Given the description of an element on the screen output the (x, y) to click on. 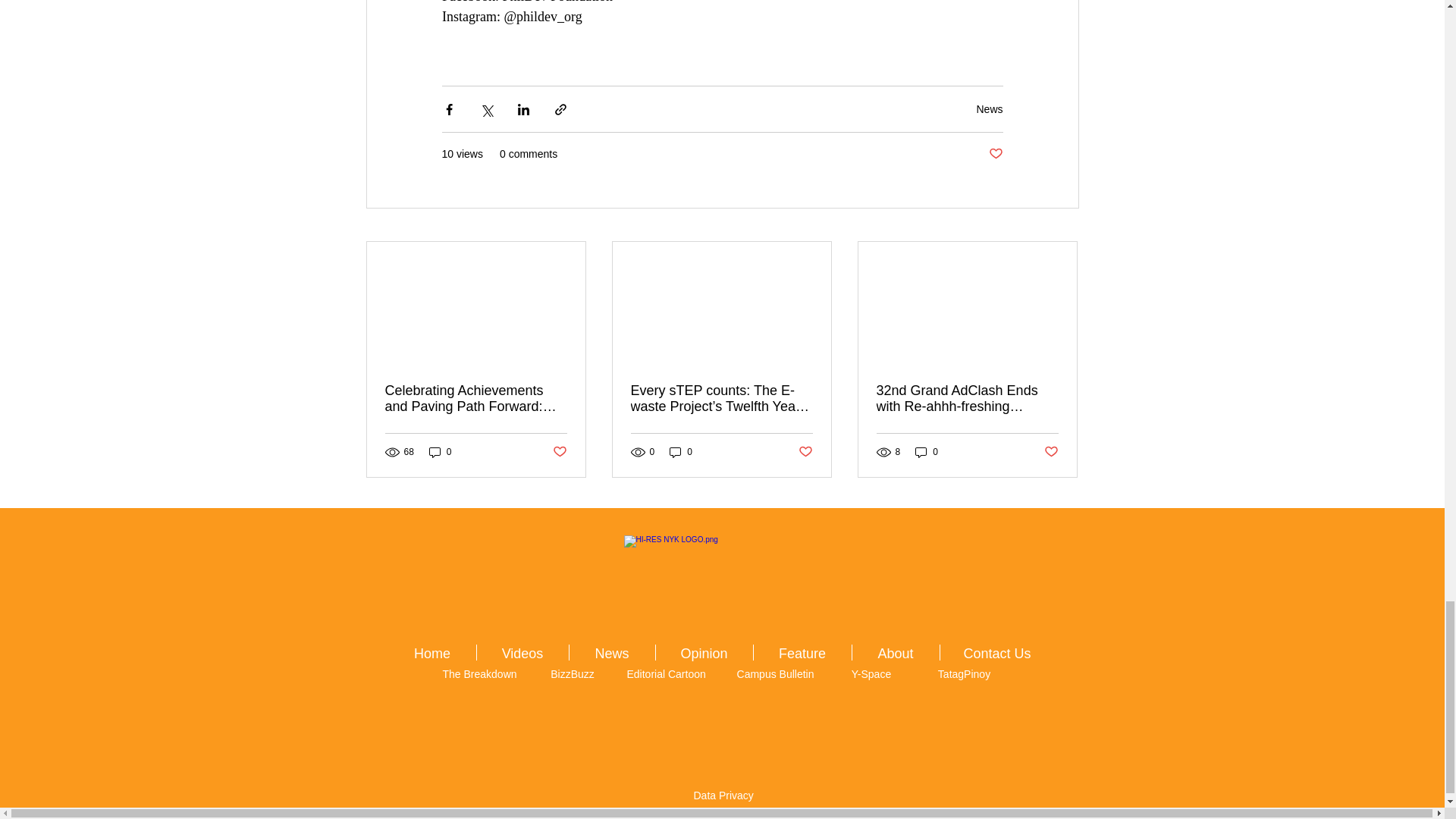
Post not marked as liked (558, 452)
Post not marked as liked (1050, 452)
0 (440, 452)
0 (681, 452)
0 (926, 452)
32nd Grand AdClash Ends with Re-ahhh-freshing Success (967, 398)
Post not marked as liked (995, 154)
News (989, 109)
Post not marked as liked (804, 452)
